Given the description of an element on the screen output the (x, y) to click on. 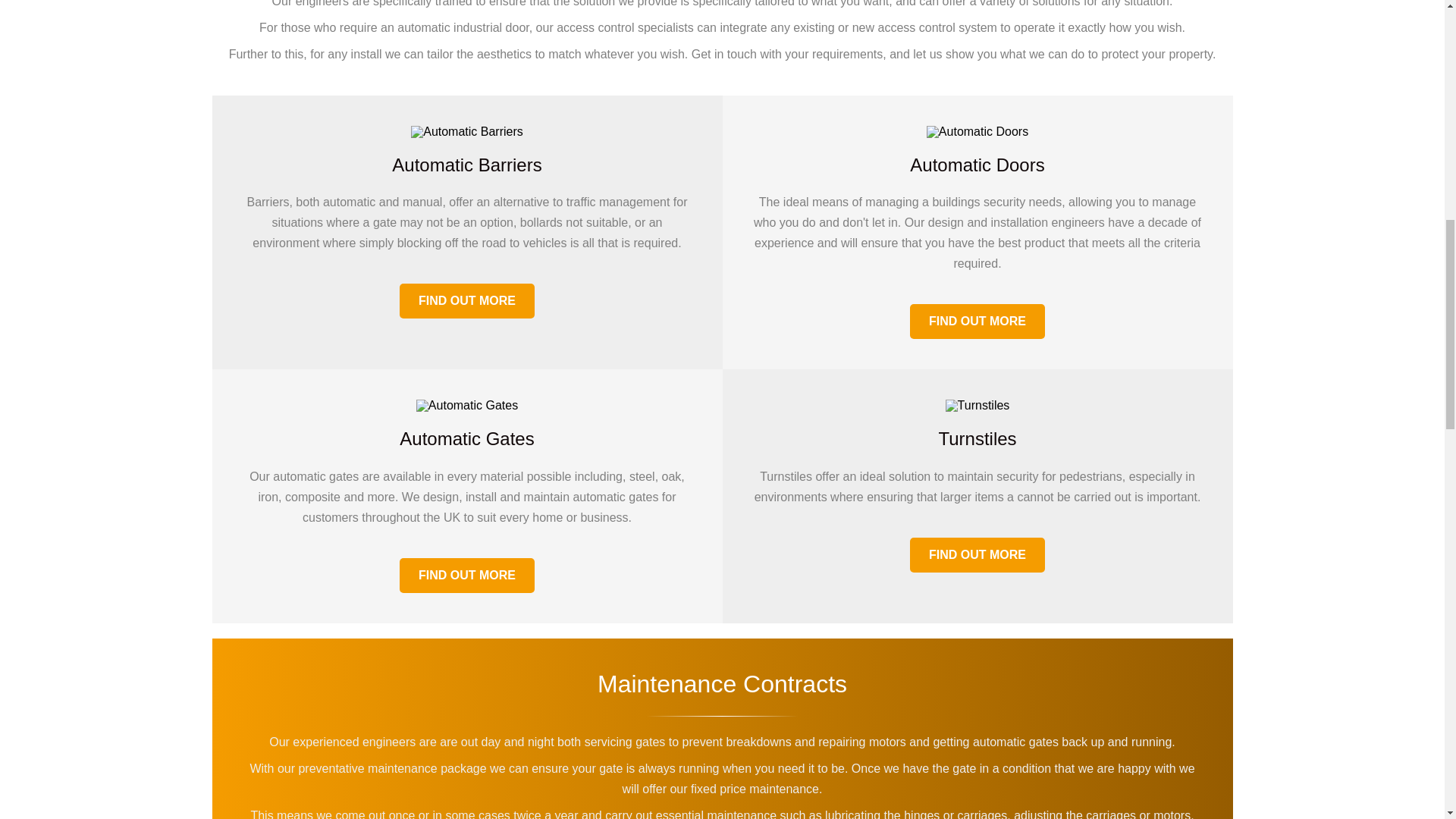
FIND OUT MORE (977, 321)
Automatic Barriers (466, 132)
FIND OUT MORE (466, 300)
Turnstiles (977, 405)
FIND OUT MORE (977, 554)
Automatic Doors (976, 132)
FIND OUT MORE (466, 574)
Automatic Gates (467, 405)
